Given the description of an element on the screen output the (x, y) to click on. 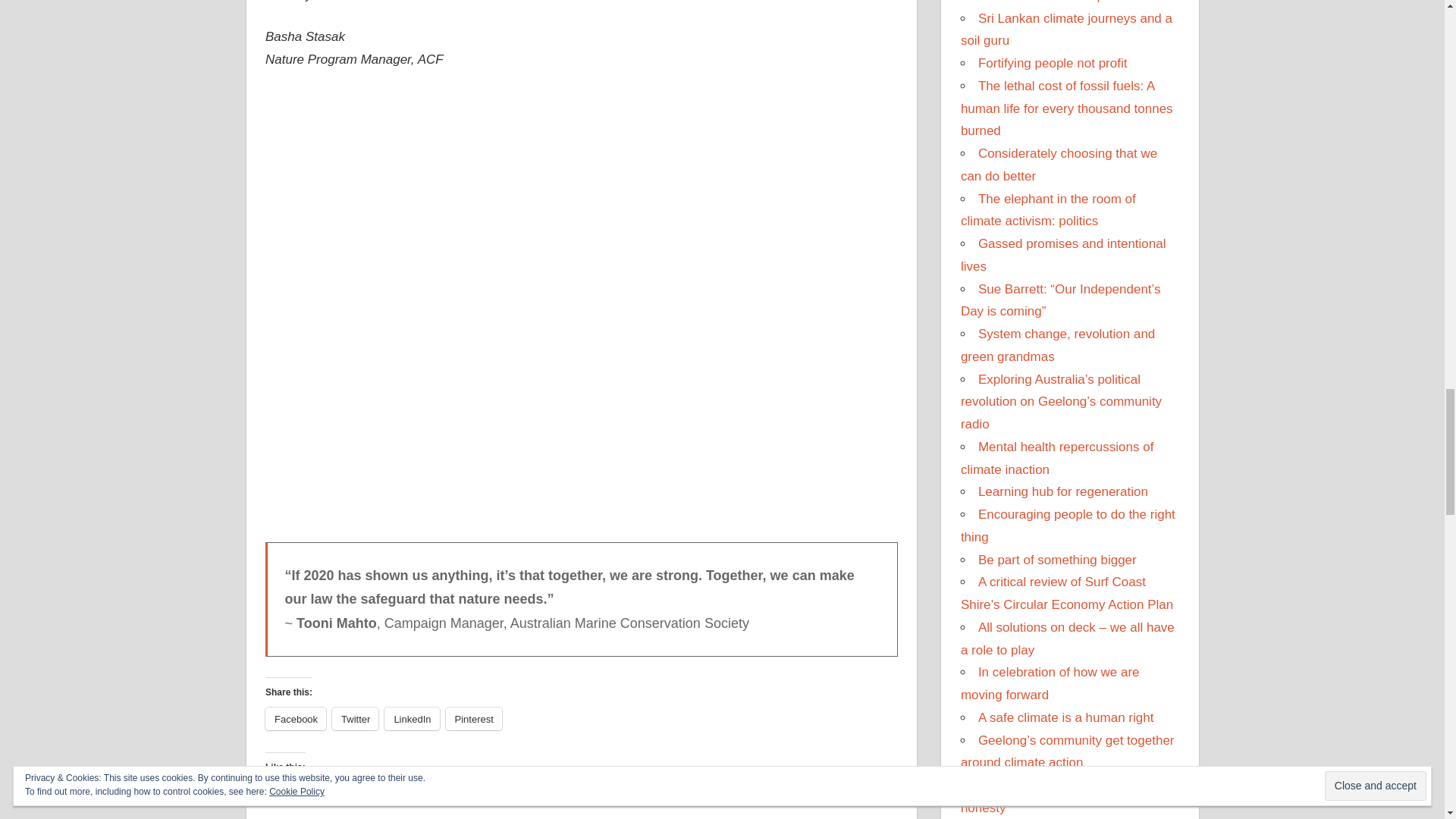
Click to share on LinkedIn (411, 718)
Click to share on Twitter (354, 718)
Click to share on Pinterest (473, 718)
Click to share on Facebook (295, 718)
